Given the description of an element on the screen output the (x, y) to click on. 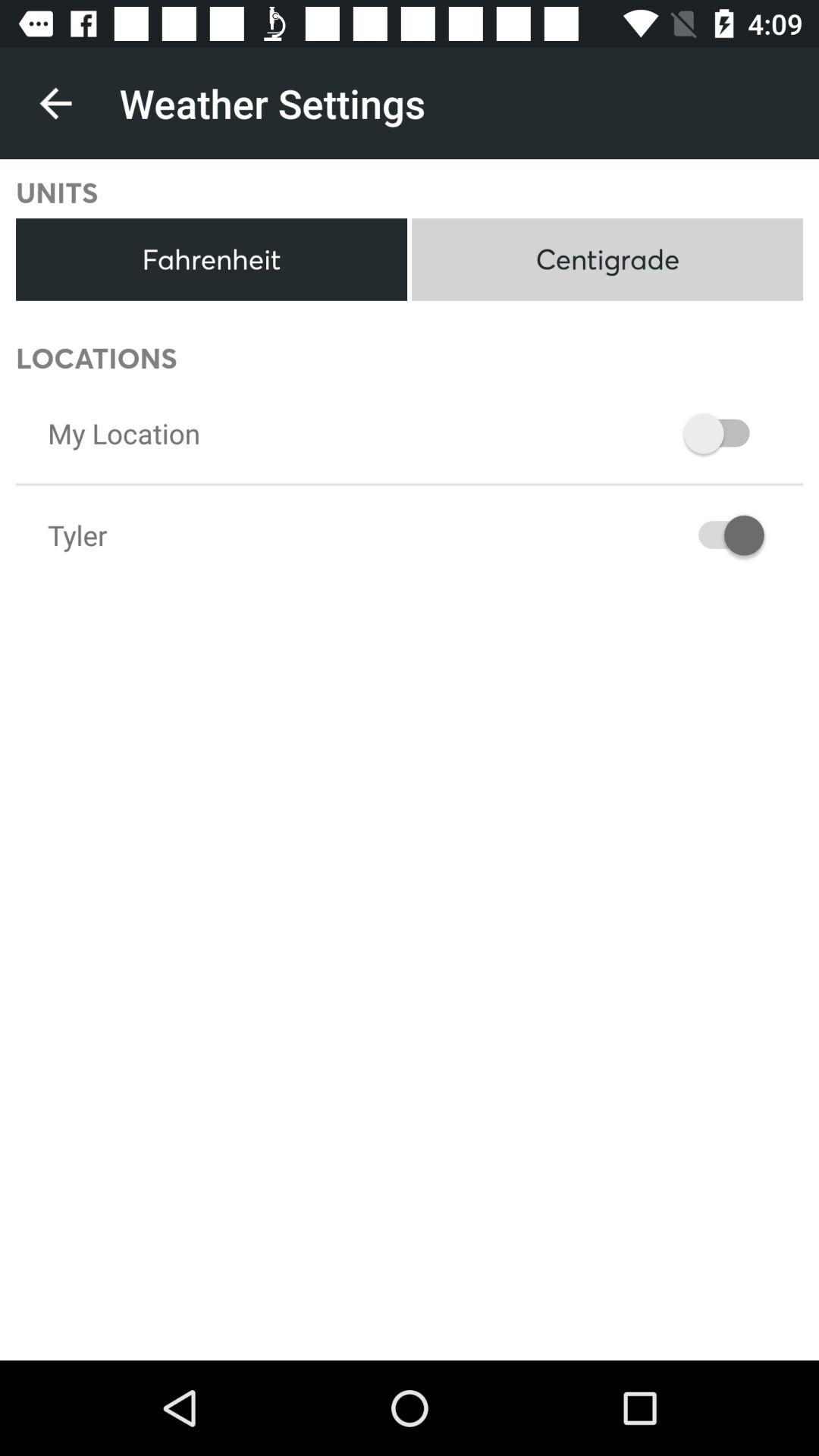
tap the icon to the left of the centigrade item (211, 259)
